Given the description of an element on the screen output the (x, y) to click on. 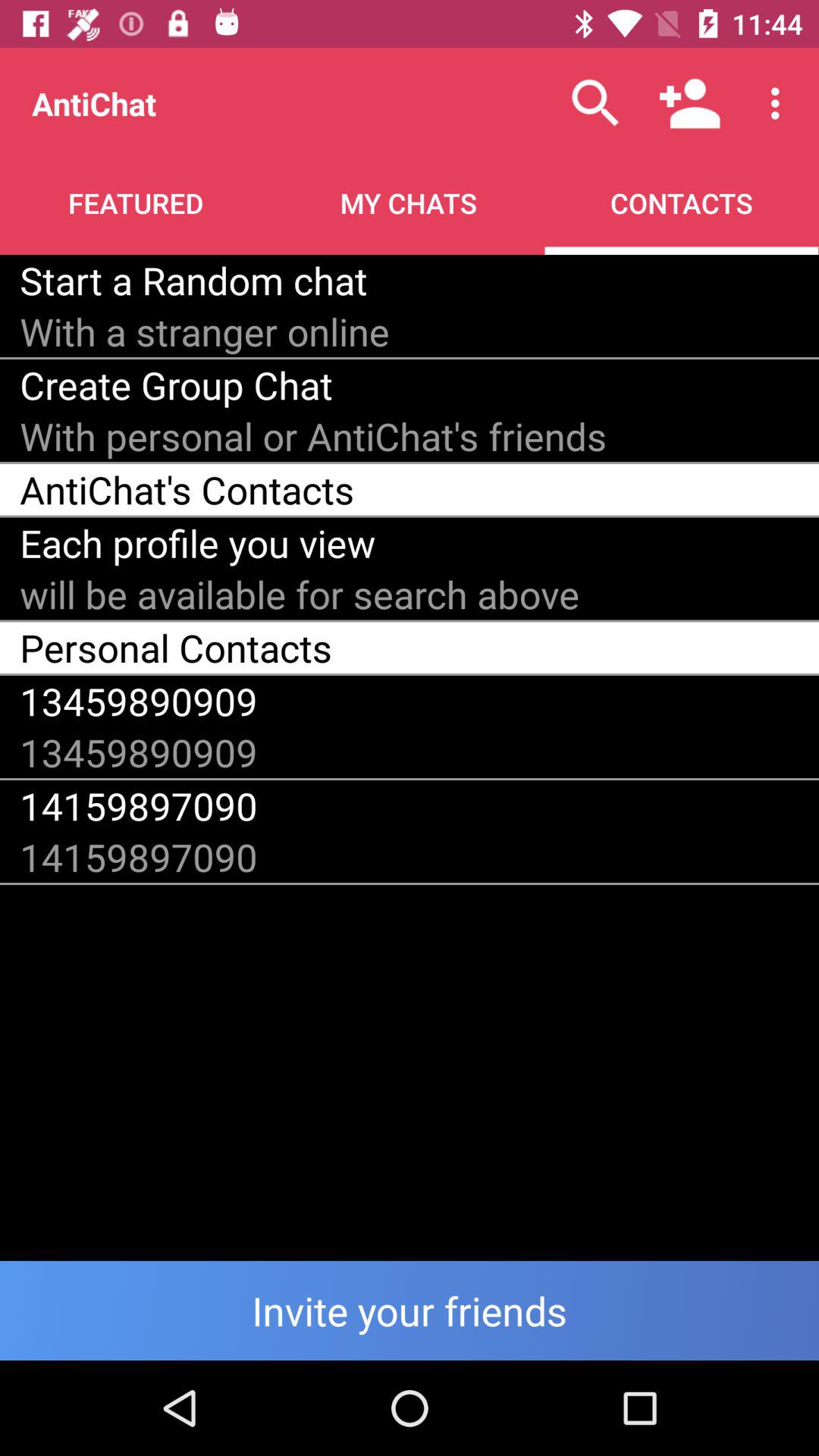
turn off each profile you item (197, 542)
